Given the description of an element on the screen output the (x, y) to click on. 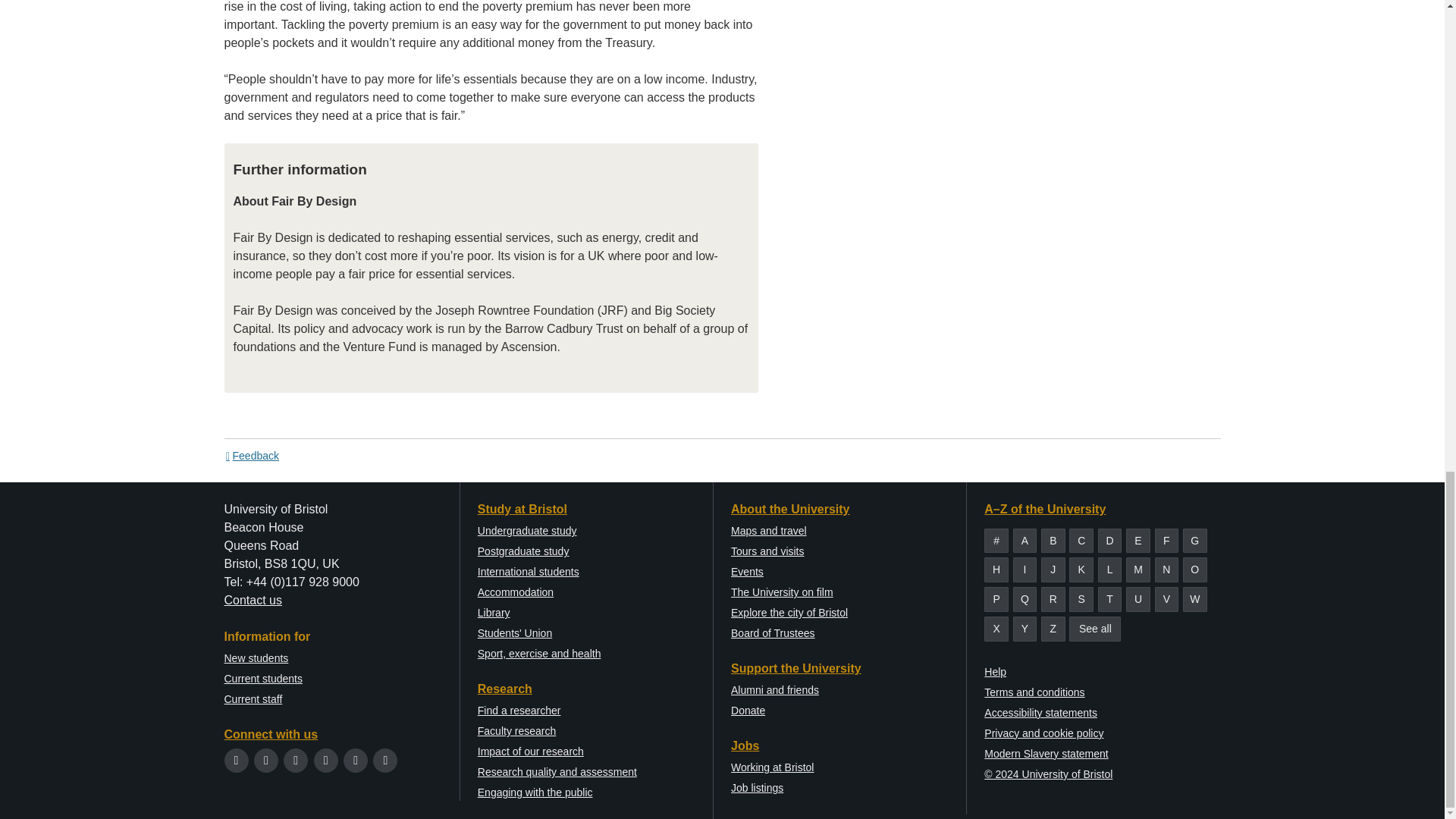
YouTube (325, 760)
Flickr (384, 760)
LinkedIn (355, 760)
Contact us (253, 599)
Instagram (295, 760)
Twitter (236, 760)
New students (256, 657)
Facebook (265, 760)
Feedback (252, 455)
